Given the description of an element on the screen output the (x, y) to click on. 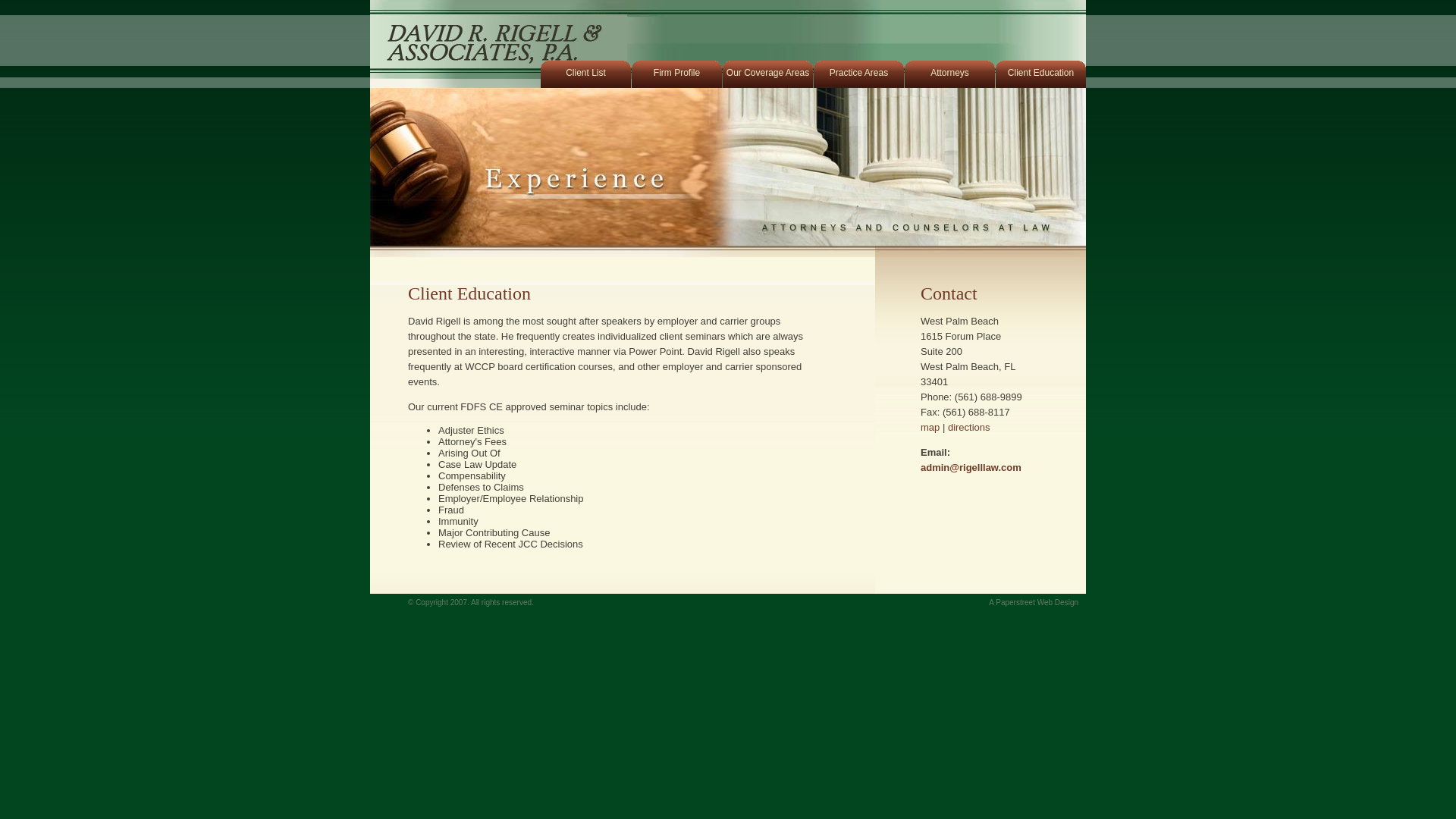
admin@rigelllaw.com Element type: text (970, 467)
directions Element type: text (968, 427)
Attorneys Element type: text (949, 71)
Client Education Element type: text (1040, 71)
Client List Element type: text (585, 71)
Our Coverage Areas Element type: text (767, 71)
Practice Areas Element type: text (858, 71)
A Paperstreet Web Design Element type: text (1033, 602)
map Element type: text (929, 427)
Firm Profile Element type: text (676, 71)
